Given the description of an element on the screen output the (x, y) to click on. 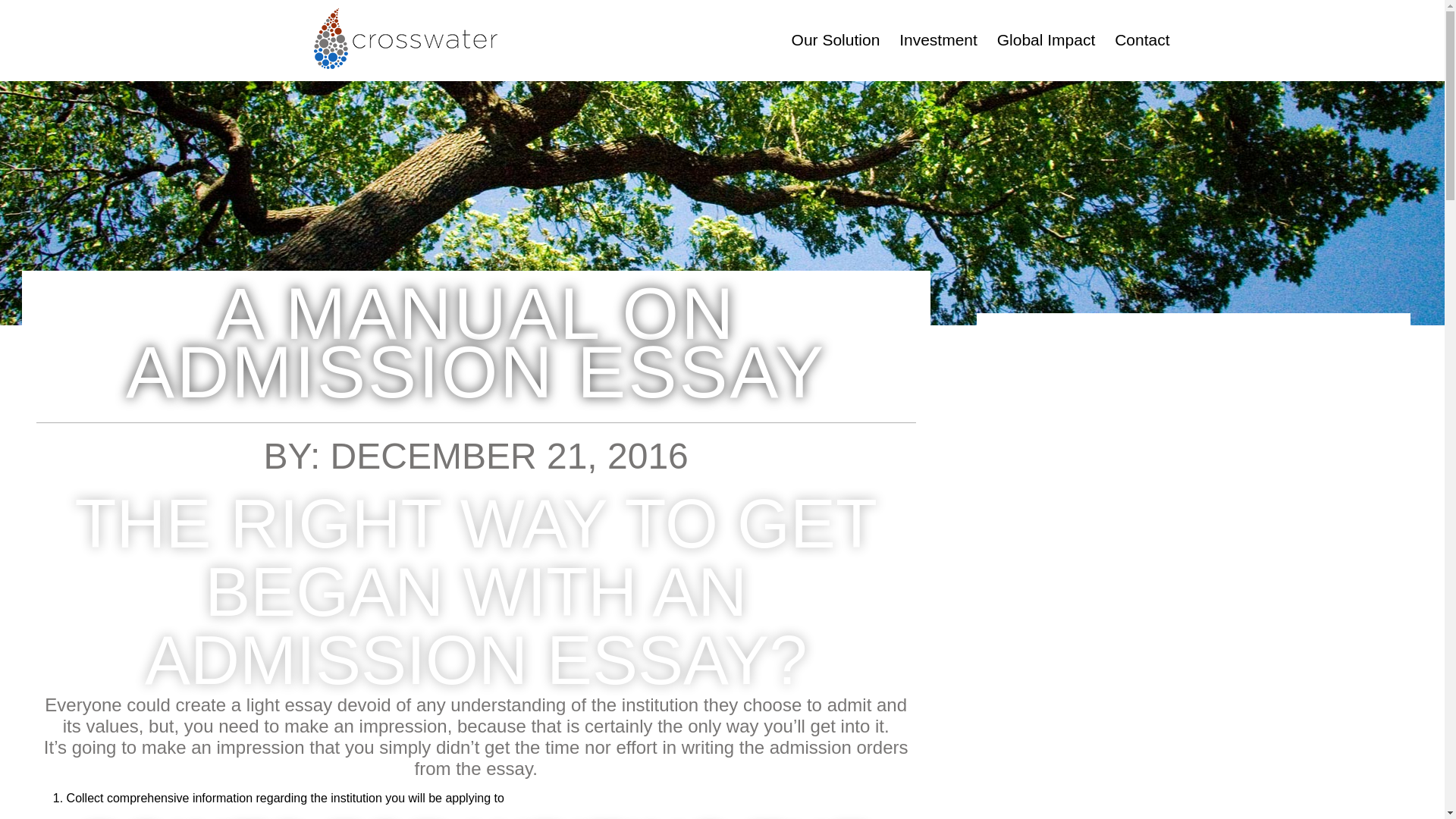
Our Solution (836, 39)
Investment (937, 39)
Contact (1142, 39)
Global Impact (1046, 39)
